Given the description of an element on the screen output the (x, y) to click on. 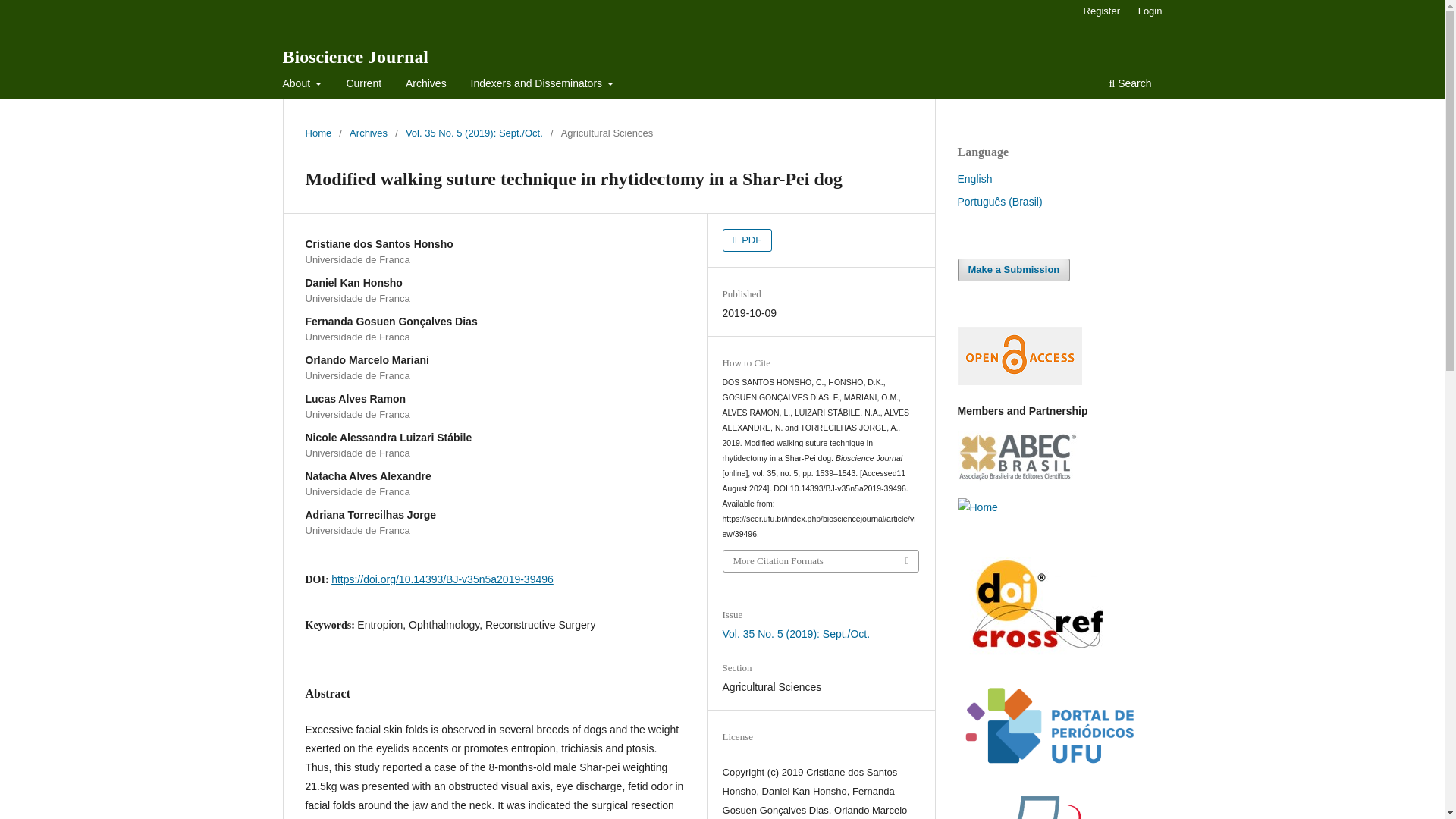
Bioscience Journal (355, 56)
More Citation Formats (820, 560)
Indexers and Disseminators (542, 85)
ISSN (976, 507)
PDF (747, 240)
Archives (368, 133)
Search (1129, 85)
Register (1100, 11)
About (302, 85)
Archives (425, 85)
